Given the description of an element on the screen output the (x, y) to click on. 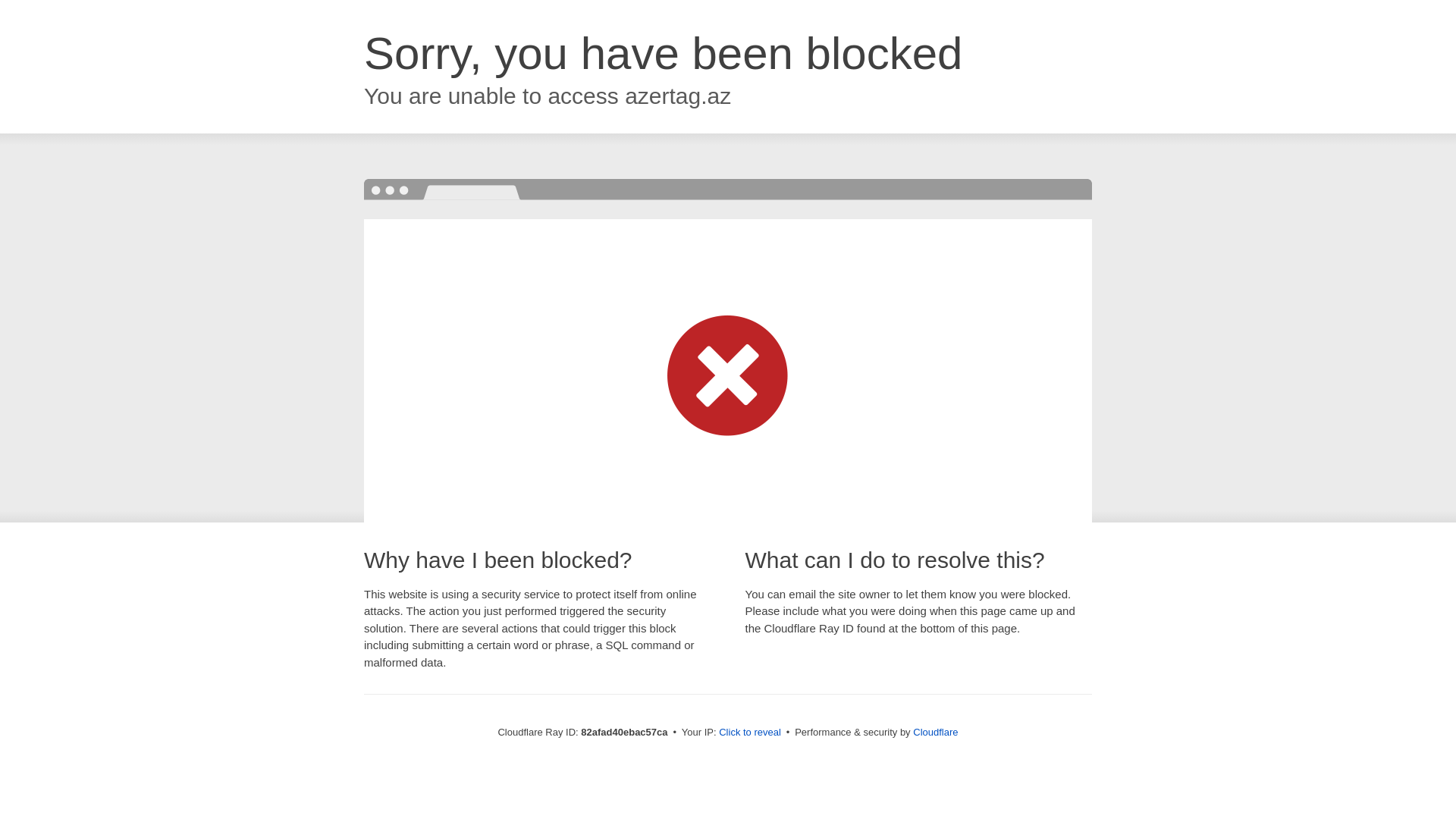
Click to reveal Element type: text (749, 732)
Cloudflare Element type: text (935, 731)
